Given the description of an element on the screen output the (x, y) to click on. 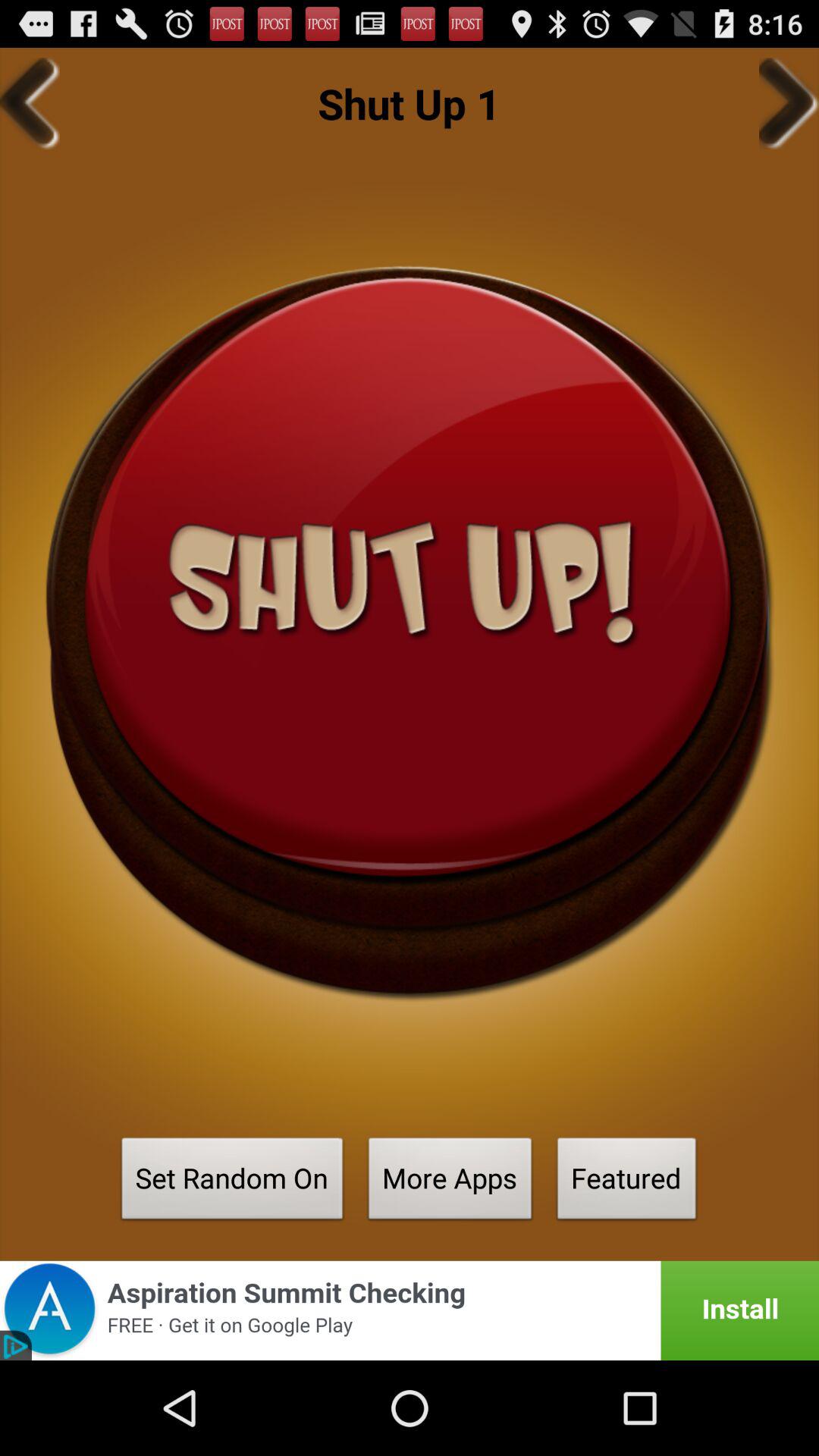
select item below the more apps (409, 1310)
